Given the description of an element on the screen output the (x, y) to click on. 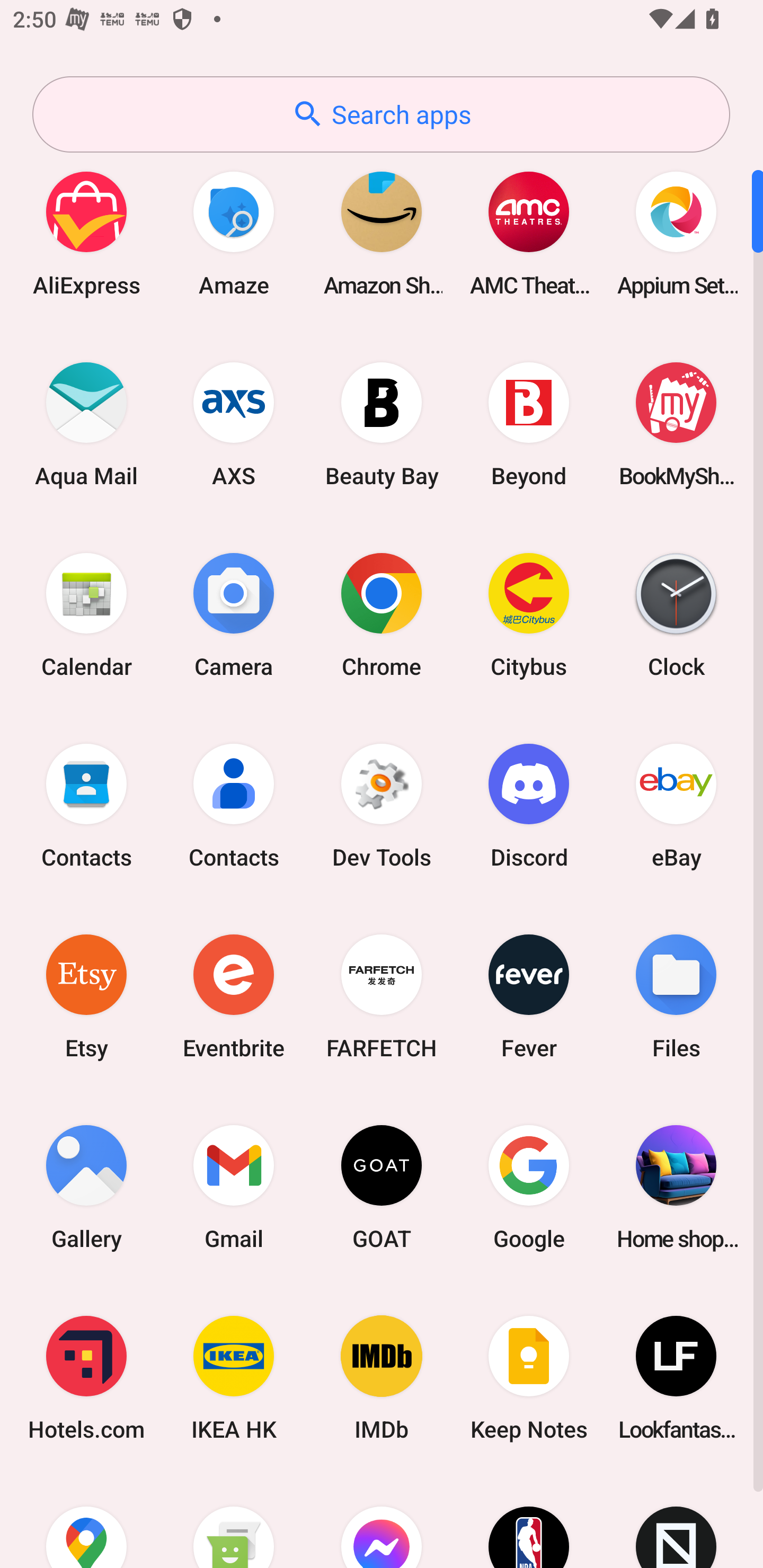
  Search apps (381, 114)
AliExpress (86, 233)
Amaze (233, 233)
Amazon Shopping (381, 233)
AMC Theatres (528, 233)
Appium Settings (676, 233)
Aqua Mail (86, 424)
AXS (233, 424)
Beauty Bay (381, 424)
Beyond (528, 424)
BookMyShow (676, 424)
Calendar (86, 614)
Camera (233, 614)
Chrome (381, 614)
Citybus (528, 614)
Clock (676, 614)
Contacts (86, 805)
Contacts (233, 805)
Dev Tools (381, 805)
Discord (528, 805)
eBay (676, 805)
Etsy (86, 996)
Eventbrite (233, 996)
FARFETCH (381, 996)
Fever (528, 996)
Files (676, 996)
Gallery (86, 1186)
Gmail (233, 1186)
GOAT (381, 1186)
Google (528, 1186)
Home shopping (676, 1186)
Hotels.com (86, 1377)
IKEA HK (233, 1377)
IMDb (381, 1377)
Keep Notes (528, 1377)
Lookfantastic (676, 1377)
